Given the description of an element on the screen output the (x, y) to click on. 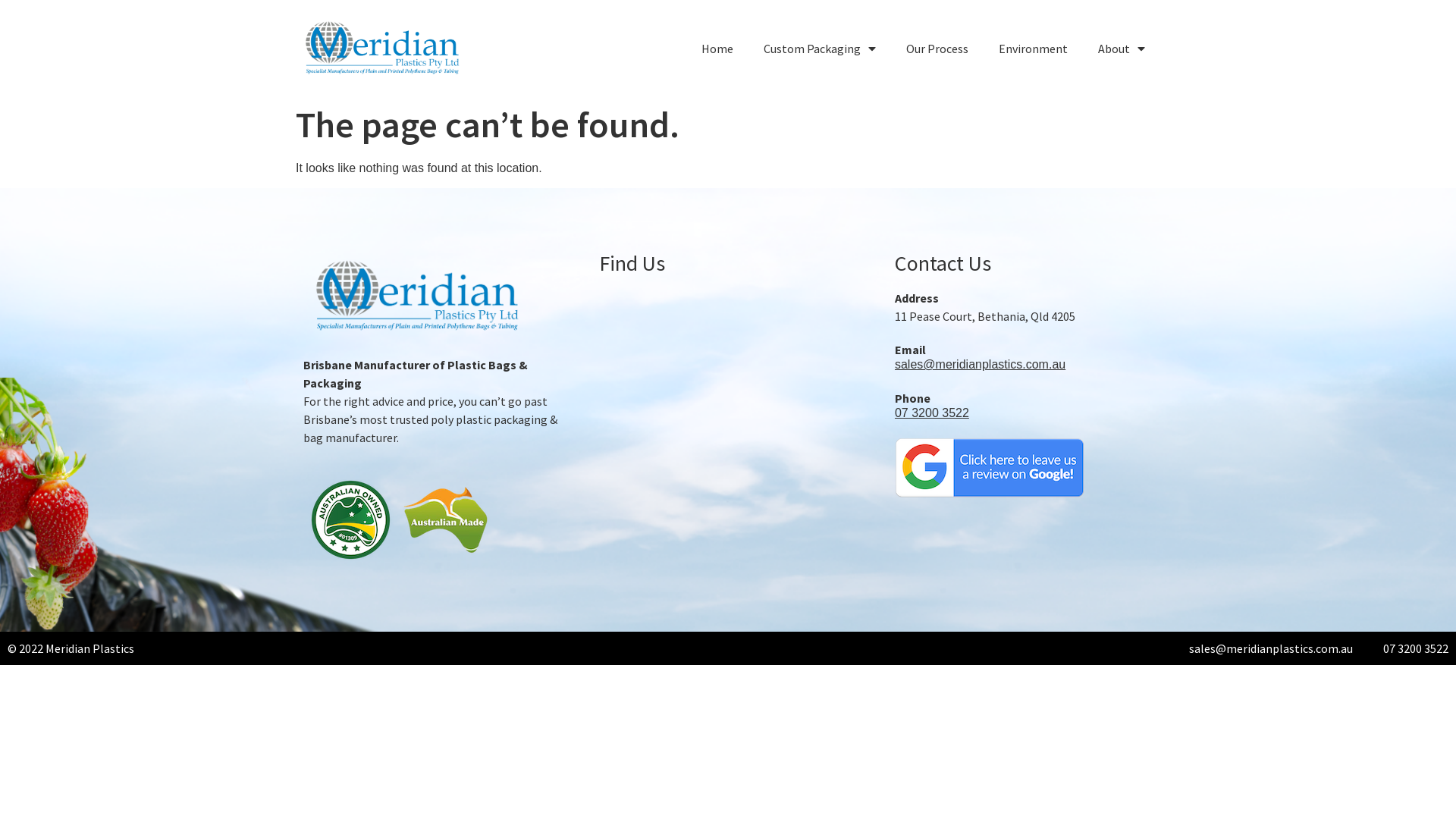
sales@meridianplastics.com.au Element type: text (979, 364)
Our Process Element type: text (937, 48)
About Element type: text (1121, 48)
11 Pease Court, Bethania, Qld 4205 Element type: hover (727, 415)
Home Element type: text (717, 48)
07 3200 3522 Element type: text (931, 413)
Custom Packaging Element type: text (819, 48)
Environment Element type: text (1032, 48)
